Given the description of an element on the screen output the (x, y) to click on. 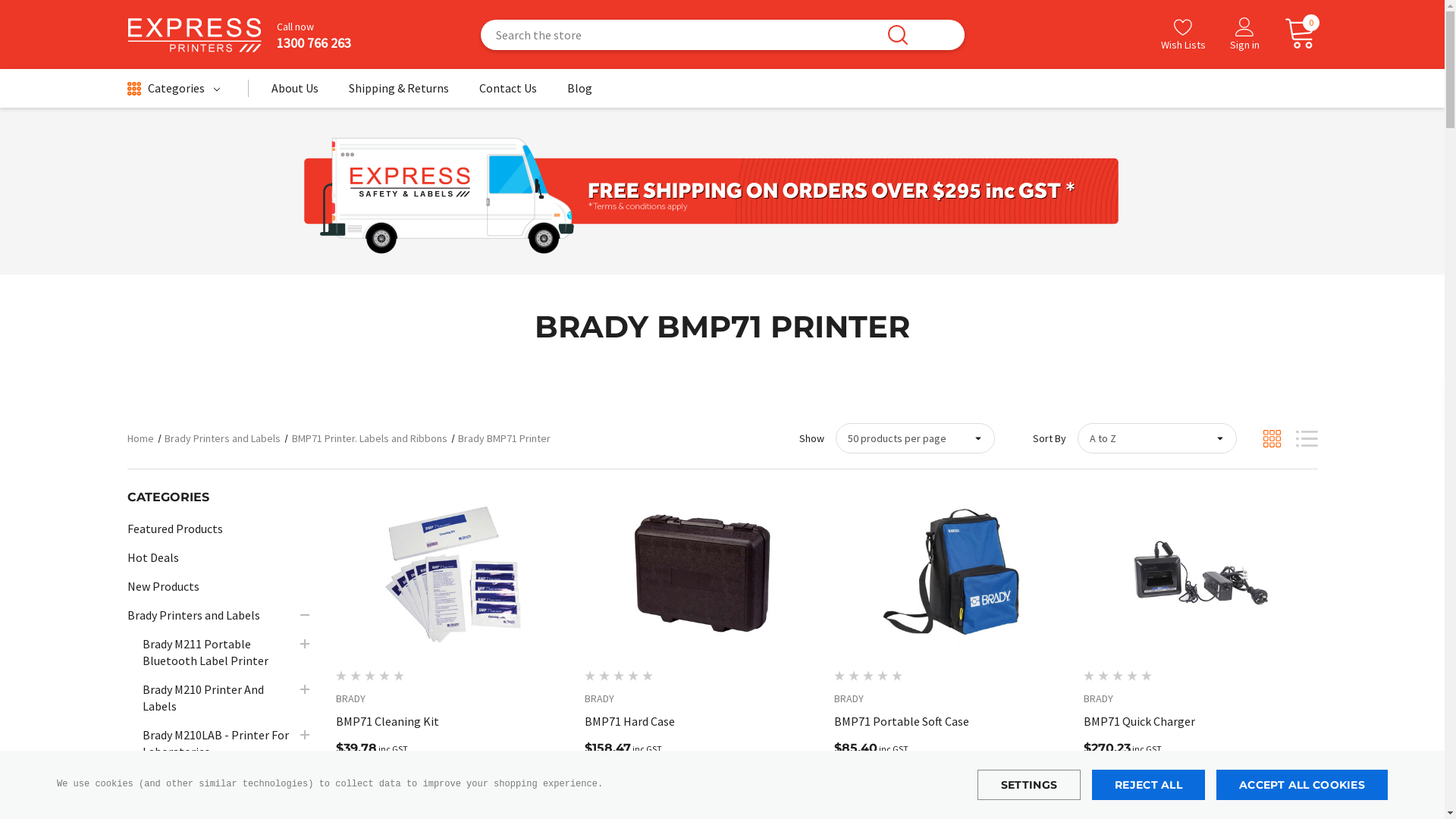
BMP71 Hard Case Element type: text (701, 720)
Grid View Element type: hover (1271, 437)
Featured Products Element type: text (174, 528)
Brady BMP41 Printer And Labels Element type: text (218, 788)
Brady BMP71 Printer Element type: text (504, 438)
New Products Element type: text (163, 585)
BMP71 Portable Soft Case Element type: text (951, 720)
Add To Cart Element type: text (901, 786)
Add To Cart Element type: text (651, 786)
Categories Element type: text (173, 88)
Express Safety Element type: hover (194, 33)
BMP71 Quick Charger Element type: text (1200, 720)
Brady M210LAB - Printer For Laboratories Element type: text (218, 742)
Add To Cart Element type: text (402, 786)
BMP71 Hard Case Element type: hover (701, 571)
SETTINGS Element type: text (1028, 784)
REJECT ALL Element type: text (1148, 784)
BMP71 Quick Charger Element type: hover (1200, 571)
BMP71 Cleaning Kit Element type: text (452, 720)
Brady Printers and Labels Element type: text (222, 438)
Hot Deals Element type: text (152, 557)
Brady M210 Printer And Labels Element type: text (218, 697)
List View Element type: hover (1306, 438)
Blog Element type: text (579, 91)
Brady M211 Portable Bluetooth Label Printer Element type: text (218, 651)
About Us Element type: text (294, 91)
BMP71 Cleaning Kit Element type: hover (452, 571)
BMP71 Printer. Labels and Ribbons Element type: text (368, 438)
Shipping & Returns Element type: text (398, 91)
Contact Us Element type: text (507, 91)
ACCEPT ALL COOKIES Element type: text (1301, 784)
Wish Lists Element type: text (1182, 35)
Sign in Element type: text (1244, 35)
Free Shipping & Returns Element type: hover (710, 190)
Add To Cart Element type: text (1150, 786)
Home Element type: text (140, 438)
0 Element type: text (1293, 34)
Brady Printers and Labels Element type: text (193, 614)
BMP71 Portable Soft Case Element type: hover (950, 571)
Call now
1300 766 263 Element type: text (305, 34)
